Given the description of an element on the screen output the (x, y) to click on. 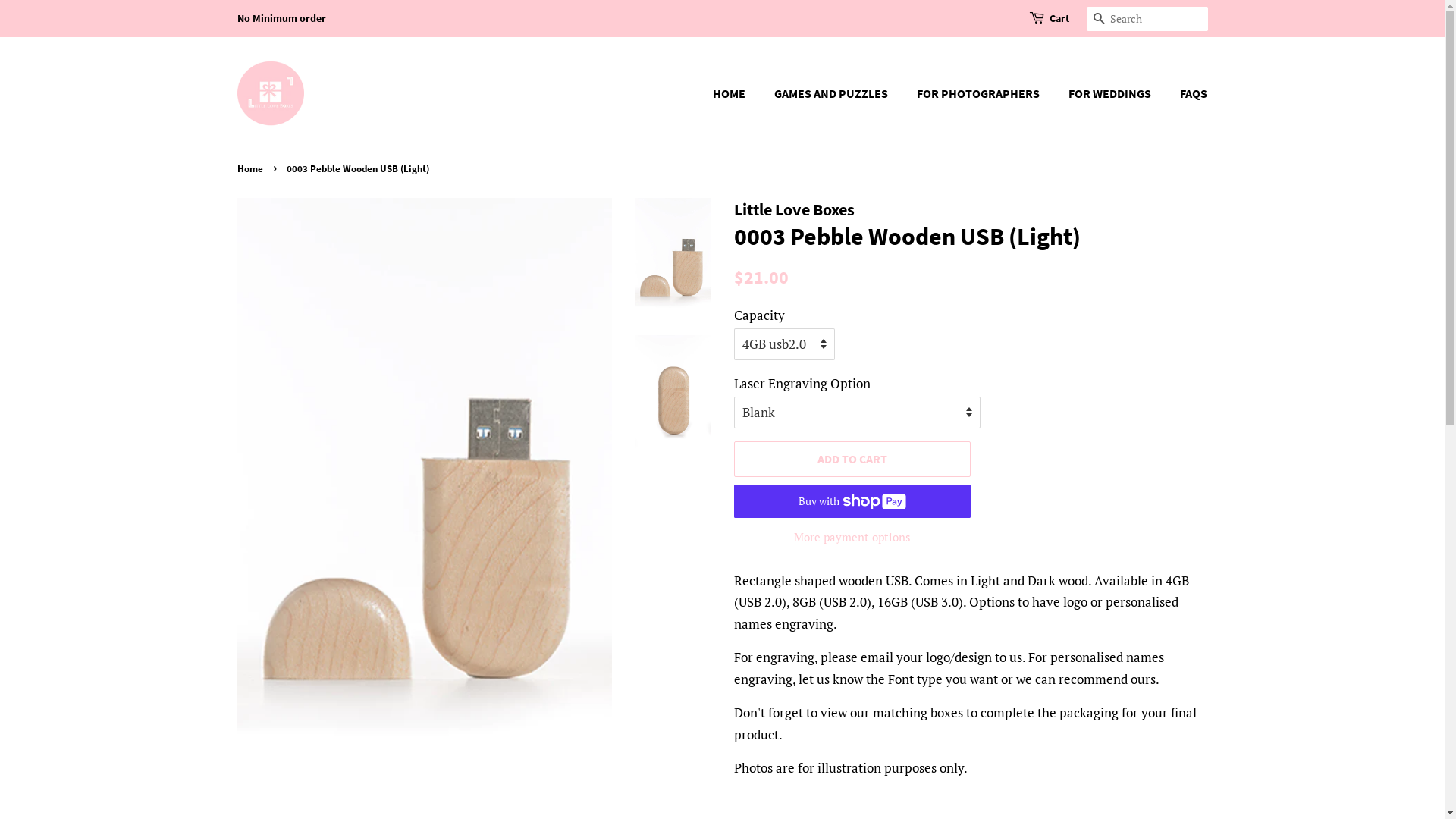
ADD TO CART Element type: text (852, 458)
Home Element type: text (251, 168)
SEARCH Element type: text (1097, 18)
FAQS Element type: text (1187, 93)
FOR PHOTOGRAPHERS Element type: text (979, 93)
FOR WEDDINGS Element type: text (1111, 93)
More payment options Element type: text (852, 536)
HOME Element type: text (736, 93)
Cart Element type: text (1059, 18)
GAMES AND PUZZLES Element type: text (832, 93)
